Given the description of an element on the screen output the (x, y) to click on. 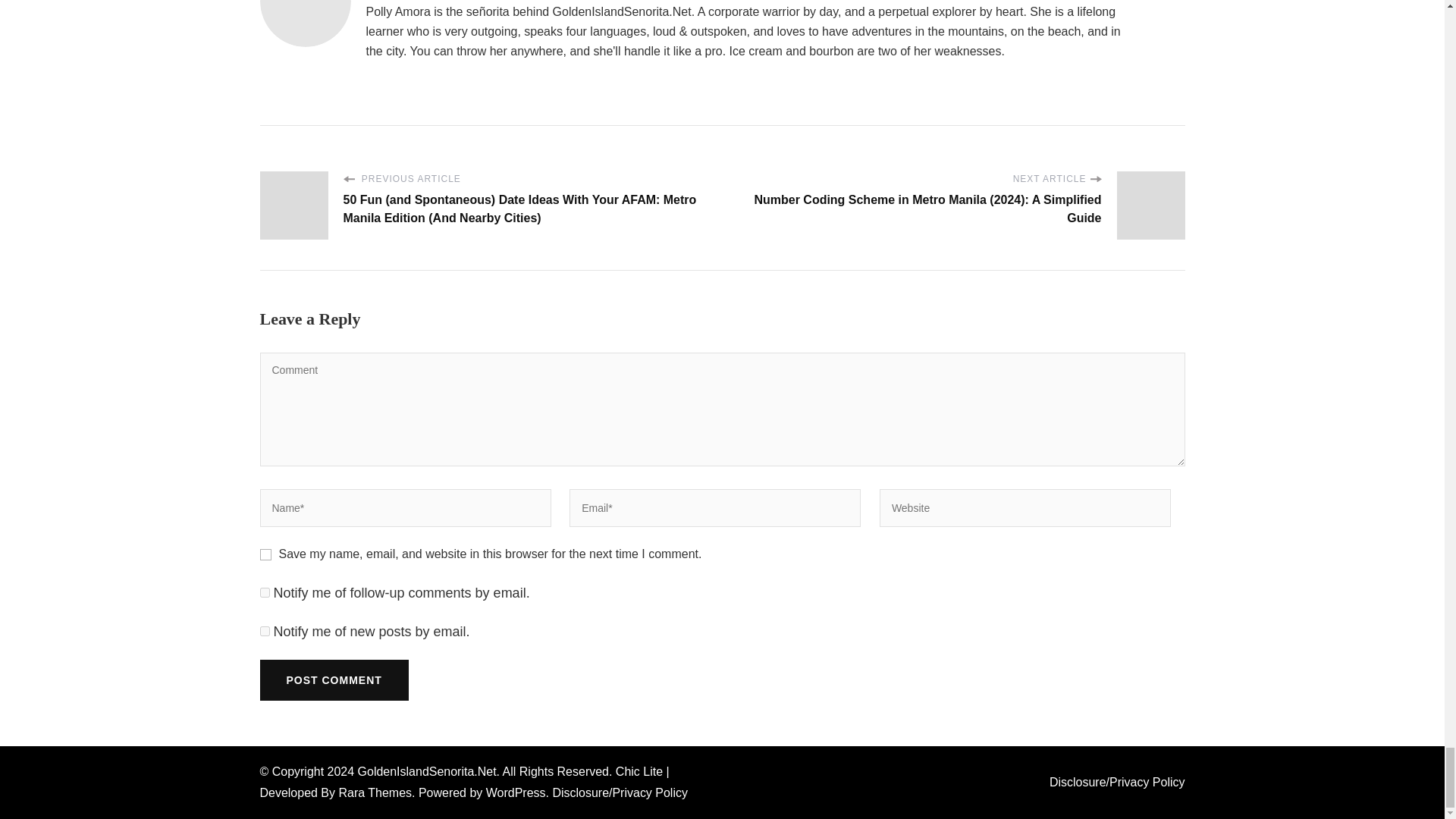
subscribe (264, 631)
Post Comment (333, 680)
subscribe (264, 592)
